Given the description of an element on the screen output the (x, y) to click on. 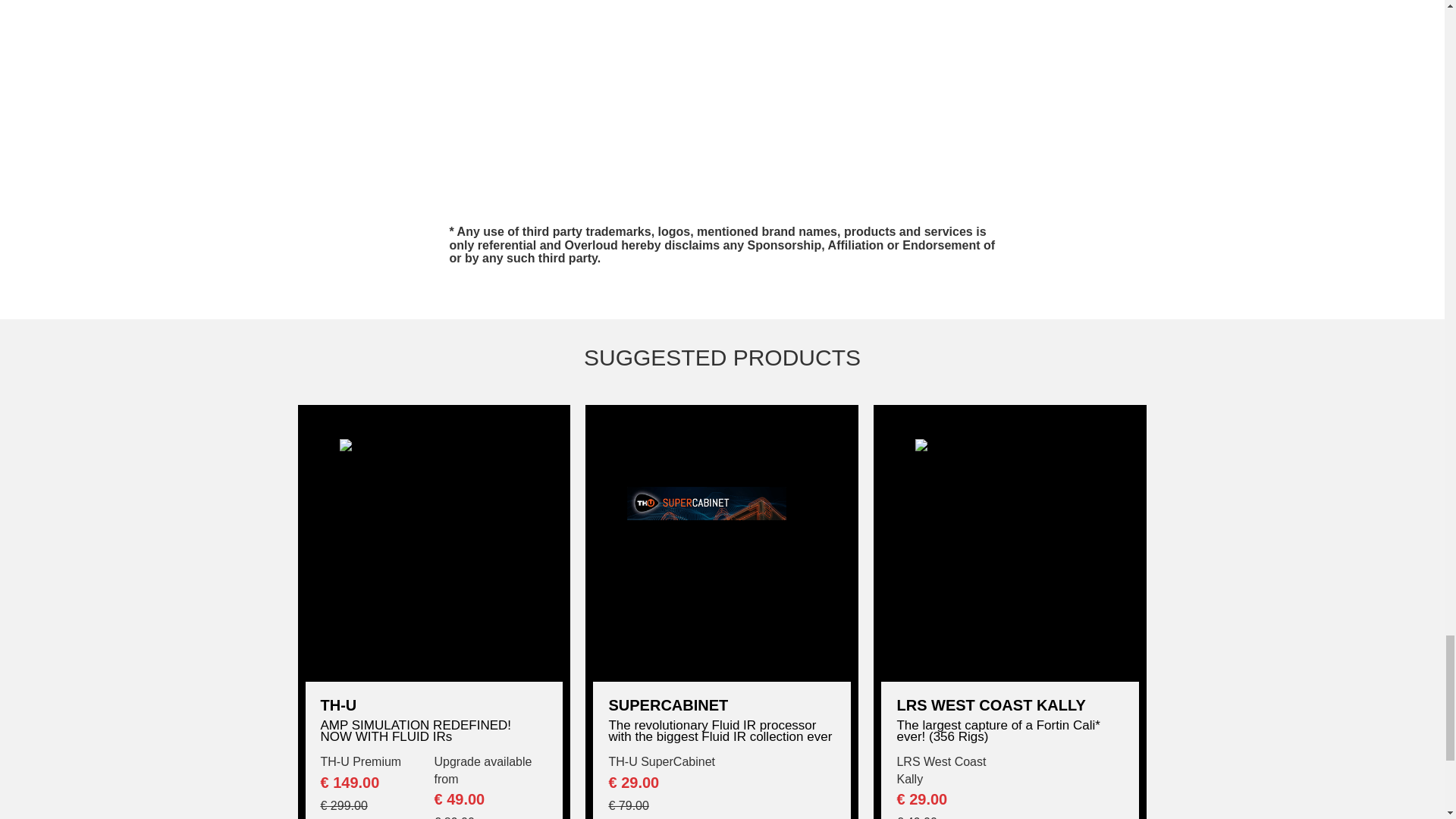
TH-U (433, 704)
SUPERCABINET (721, 704)
